Given the description of an element on the screen output the (x, y) to click on. 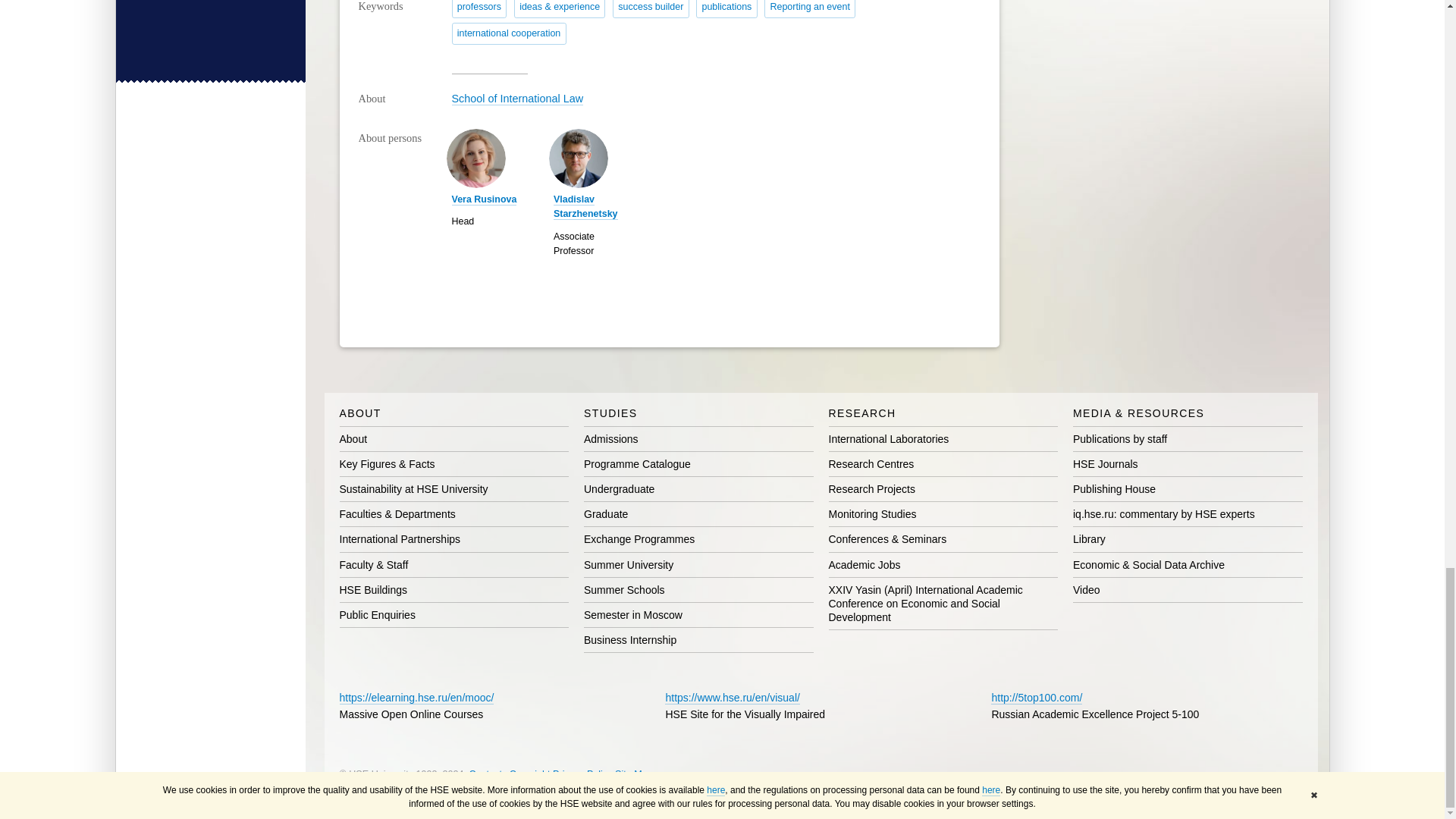
success builder (650, 9)
Reporting an event (810, 9)
publications (726, 9)
international cooperation (508, 33)
professors (478, 9)
